Given the description of an element on the screen output the (x, y) to click on. 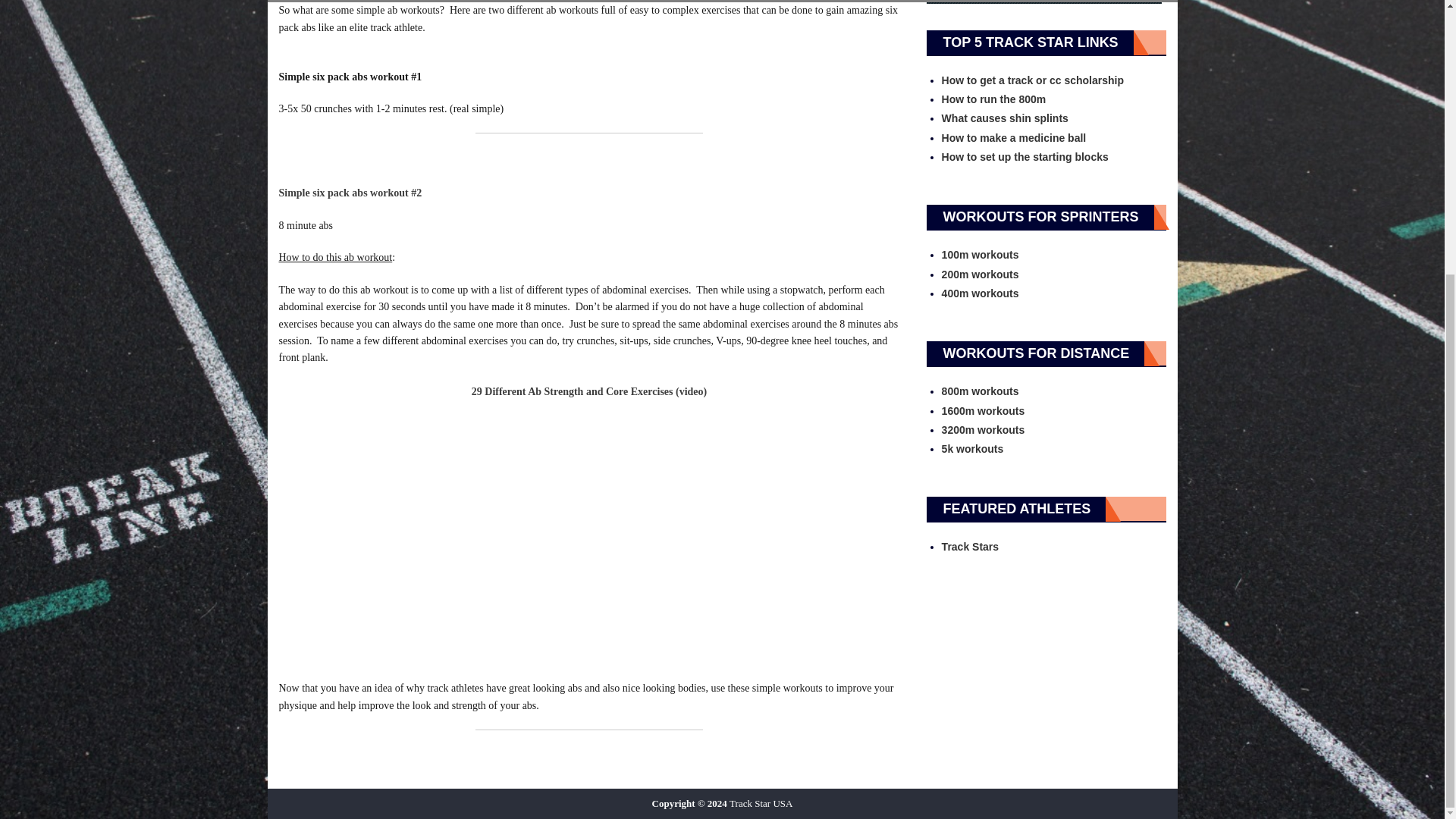
Track Star USA (760, 803)
